Given the description of an element on the screen output the (x, y) to click on. 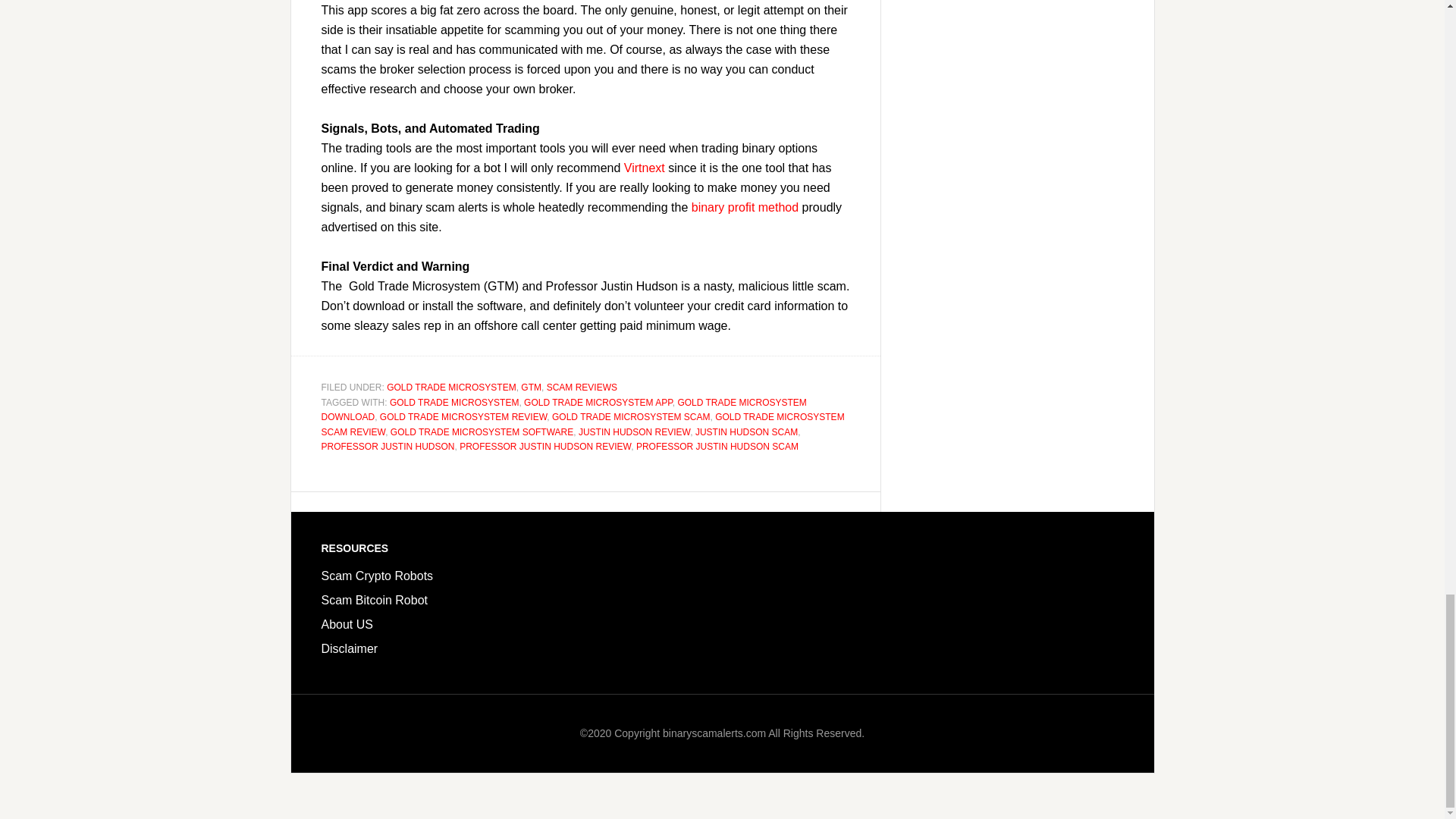
GOLD TRADE MICROSYSTEM (451, 387)
SCAM REVIEWS (582, 387)
GOLD TRADE MICROSYSTEM APP (598, 401)
Virtnext (644, 167)
GOLD TRADE MICROSYSTEM (454, 401)
GOLD TRADE MICROSYSTEM REVIEW (463, 416)
binary profit method (744, 206)
GTM (531, 387)
GOLD TRADE MICROSYSTEM DOWNLOAD (563, 409)
GOLD TRADE MICROSYSTEM SCAM (630, 416)
